Given the description of an element on the screen output the (x, y) to click on. 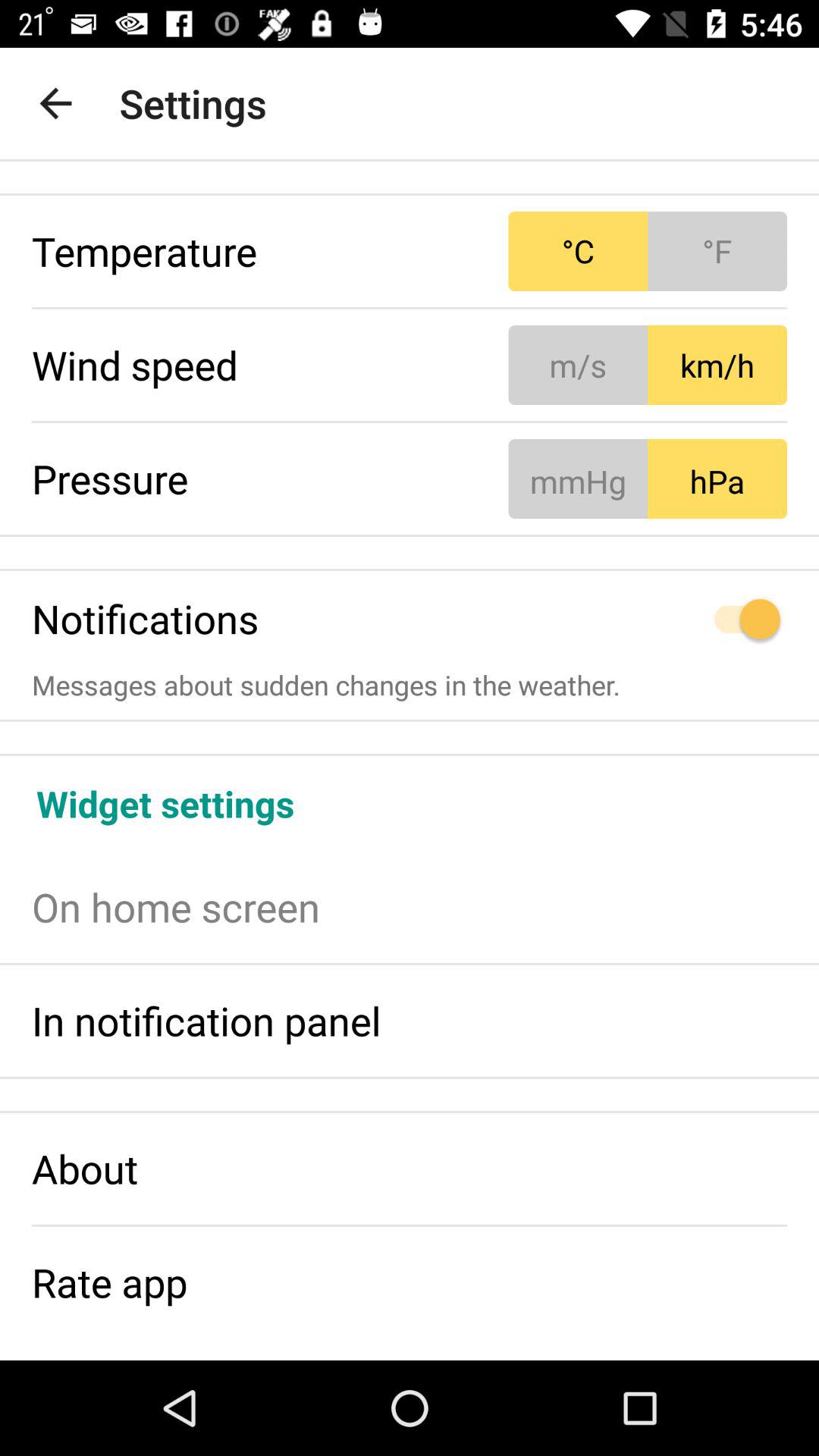
launch the item next to the settings item (55, 103)
